Given the description of an element on the screen output the (x, y) to click on. 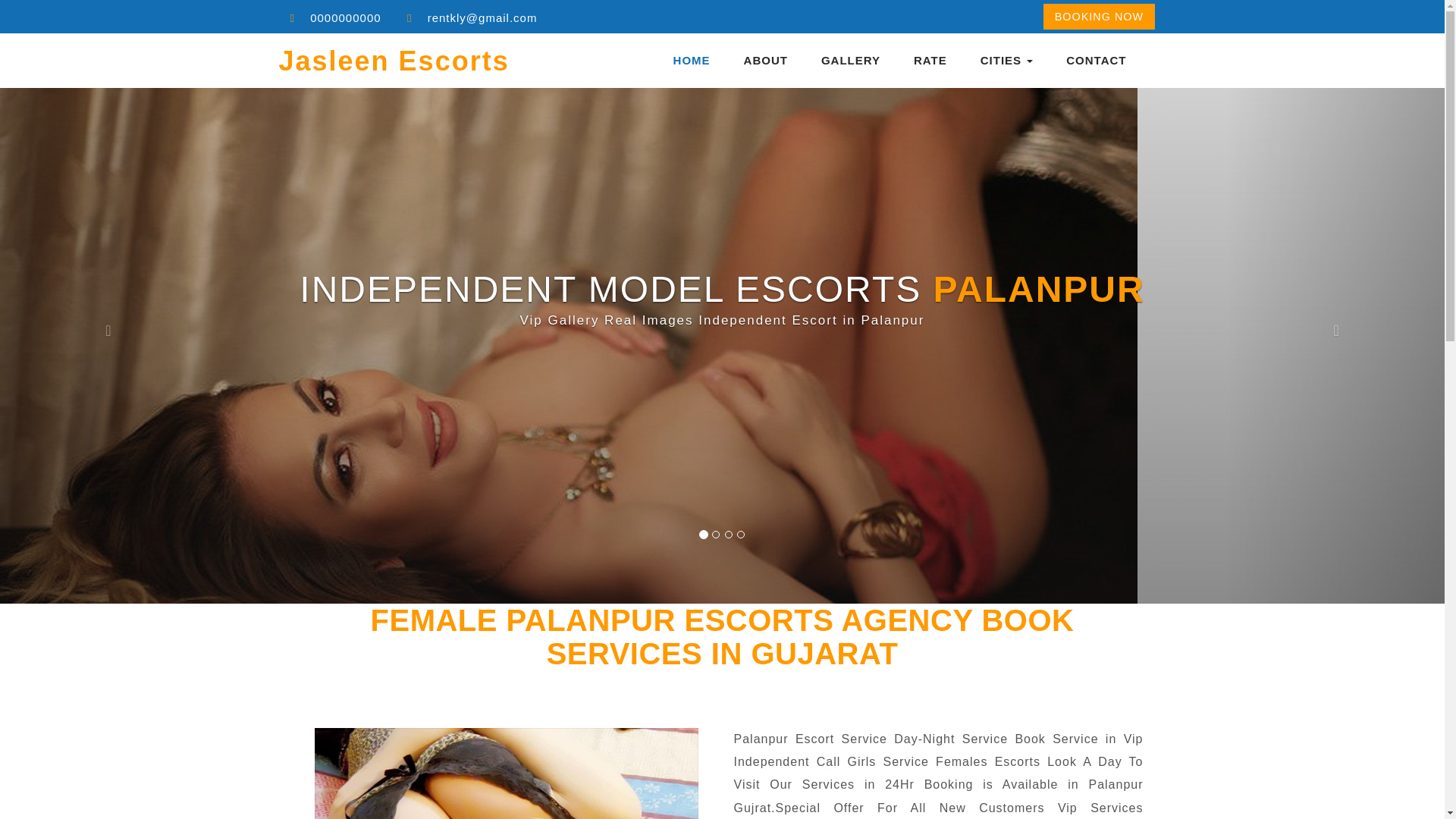
RATE (930, 60)
CITIES (1007, 60)
HOME (692, 60)
BOOKING NOW (1098, 16)
CONTACT (1095, 60)
GALLERY (850, 60)
ABOUT (765, 60)
